Given the description of an element on the screen output the (x, y) to click on. 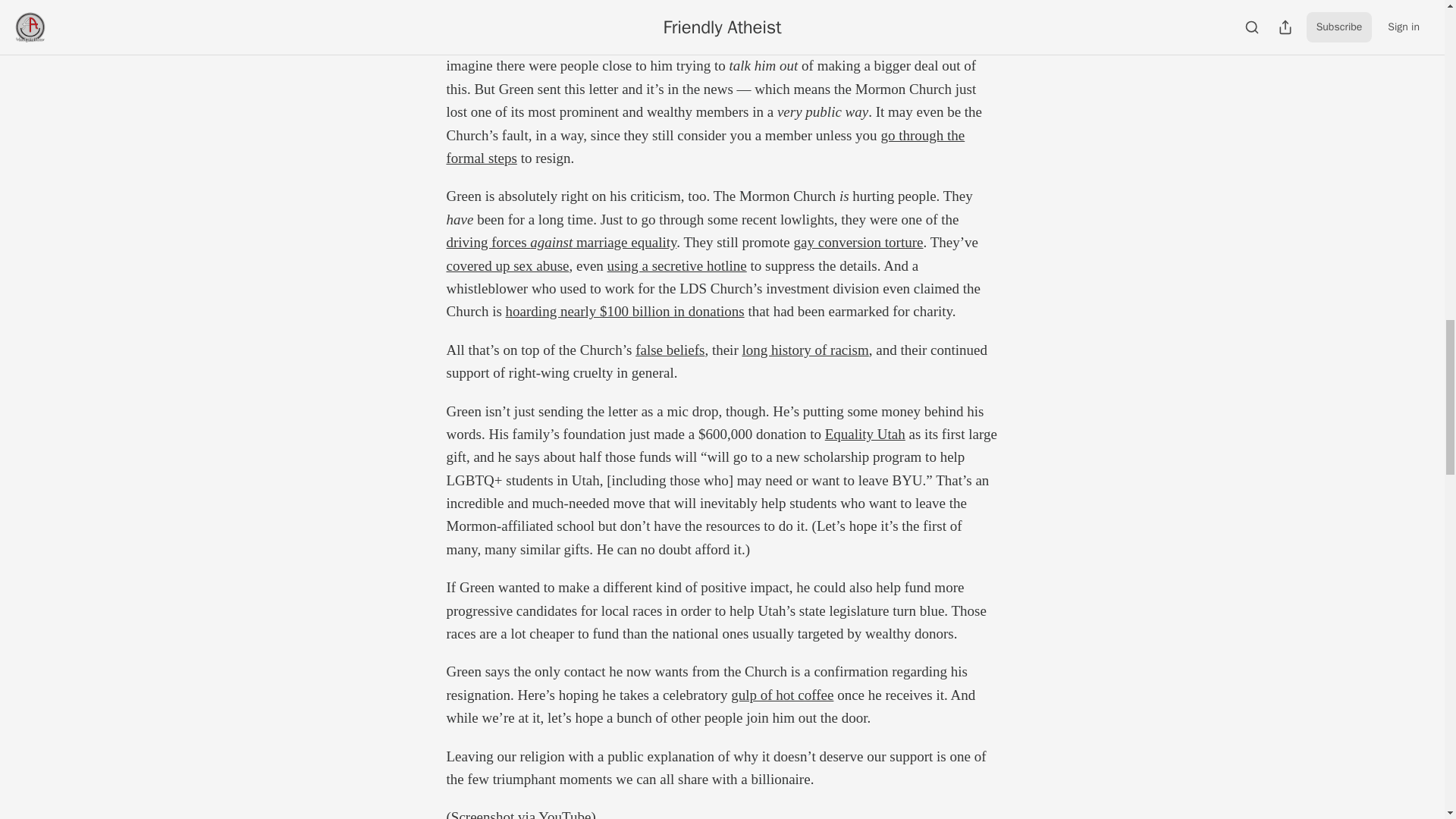
against (550, 242)
driving forces (487, 242)
gay conversion torture (858, 242)
marriage equality (624, 242)
go through the formal steps (704, 146)
